Given the description of an element on the screen output the (x, y) to click on. 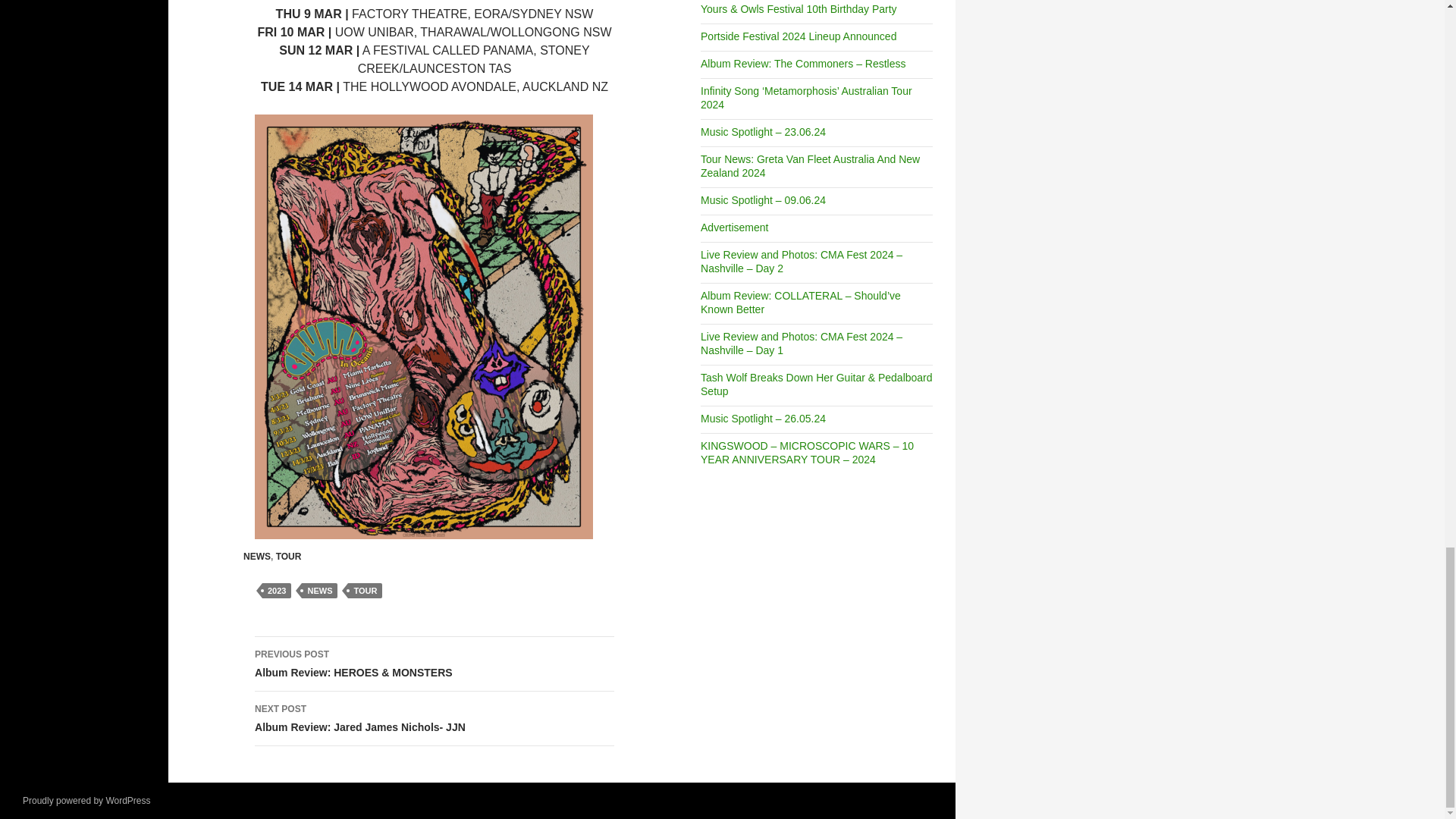
NEWS (256, 556)
NEWS (319, 590)
Portside Festival 2024 Lineup Announced (798, 36)
TOUR (364, 590)
2023 (276, 590)
TOUR (288, 556)
